Given the description of an element on the screen output the (x, y) to click on. 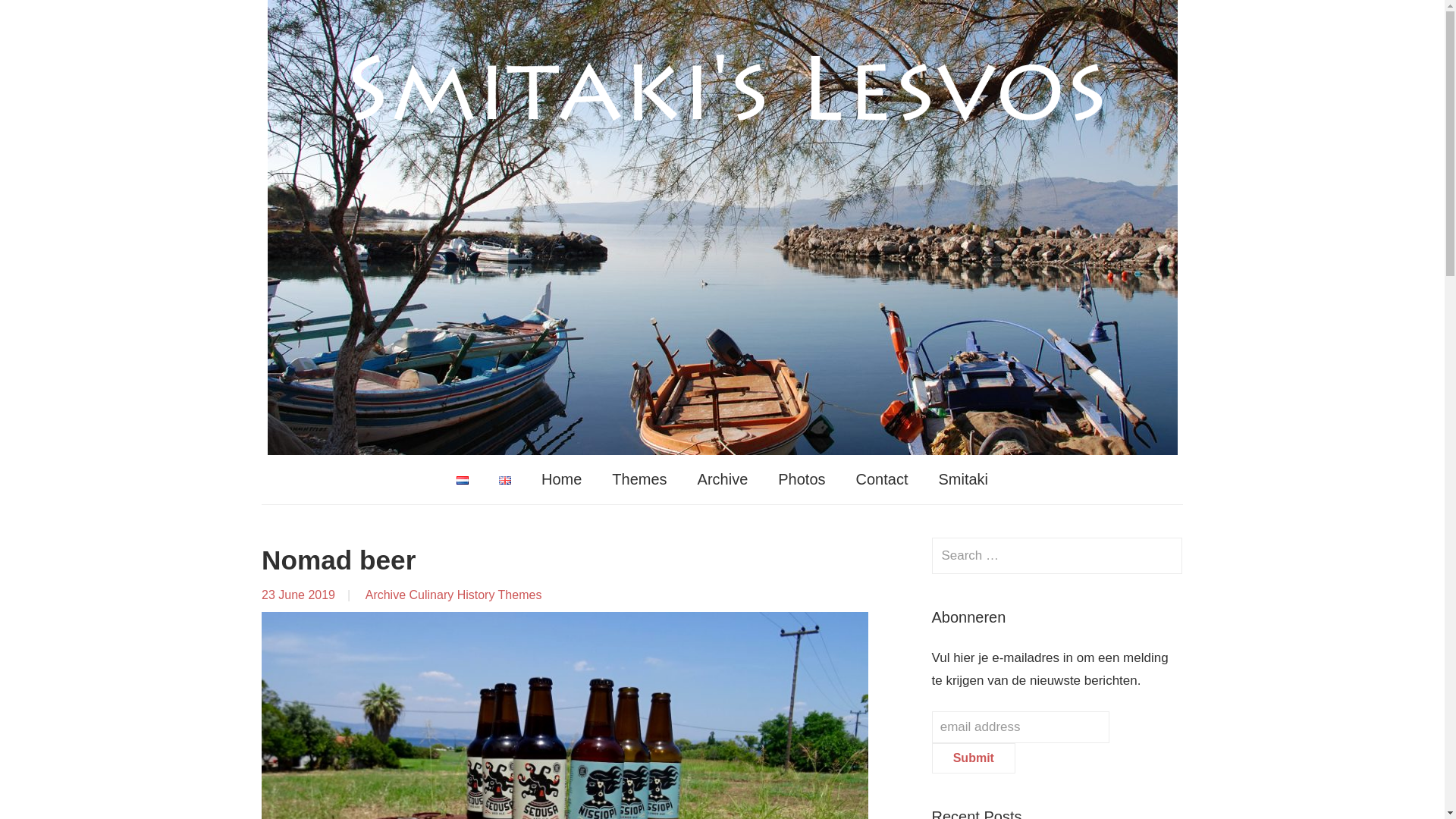
Photos (801, 479)
Search for: (1056, 555)
Submit (972, 757)
Search (1163, 555)
Themes (519, 594)
Smitaki (963, 479)
Home (560, 479)
Culinary (431, 594)
09:17 (298, 594)
